Given the description of an element on the screen output the (x, y) to click on. 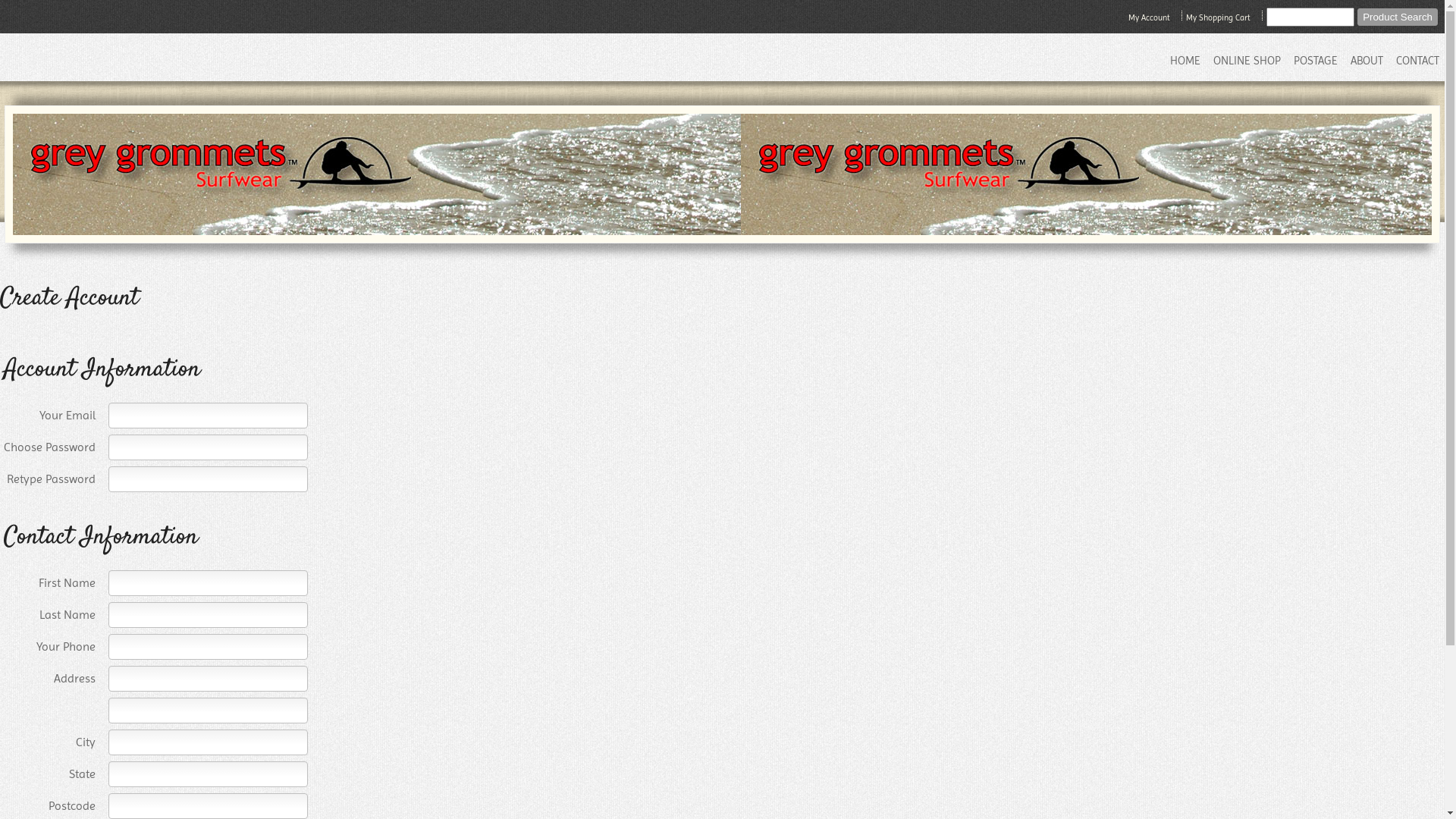
Product Search Element type: text (1397, 16)
POSTAGE Element type: text (1314, 60)
HOME Element type: text (1183, 60)
CONTACT Element type: text (1415, 60)
My Account Element type: text (1149, 17)
ABOUT Element type: text (1365, 60)
ONLINE SHOP Element type: text (1245, 60)
My Shopping Cart Element type: text (1219, 17)
